Given the description of an element on the screen output the (x, y) to click on. 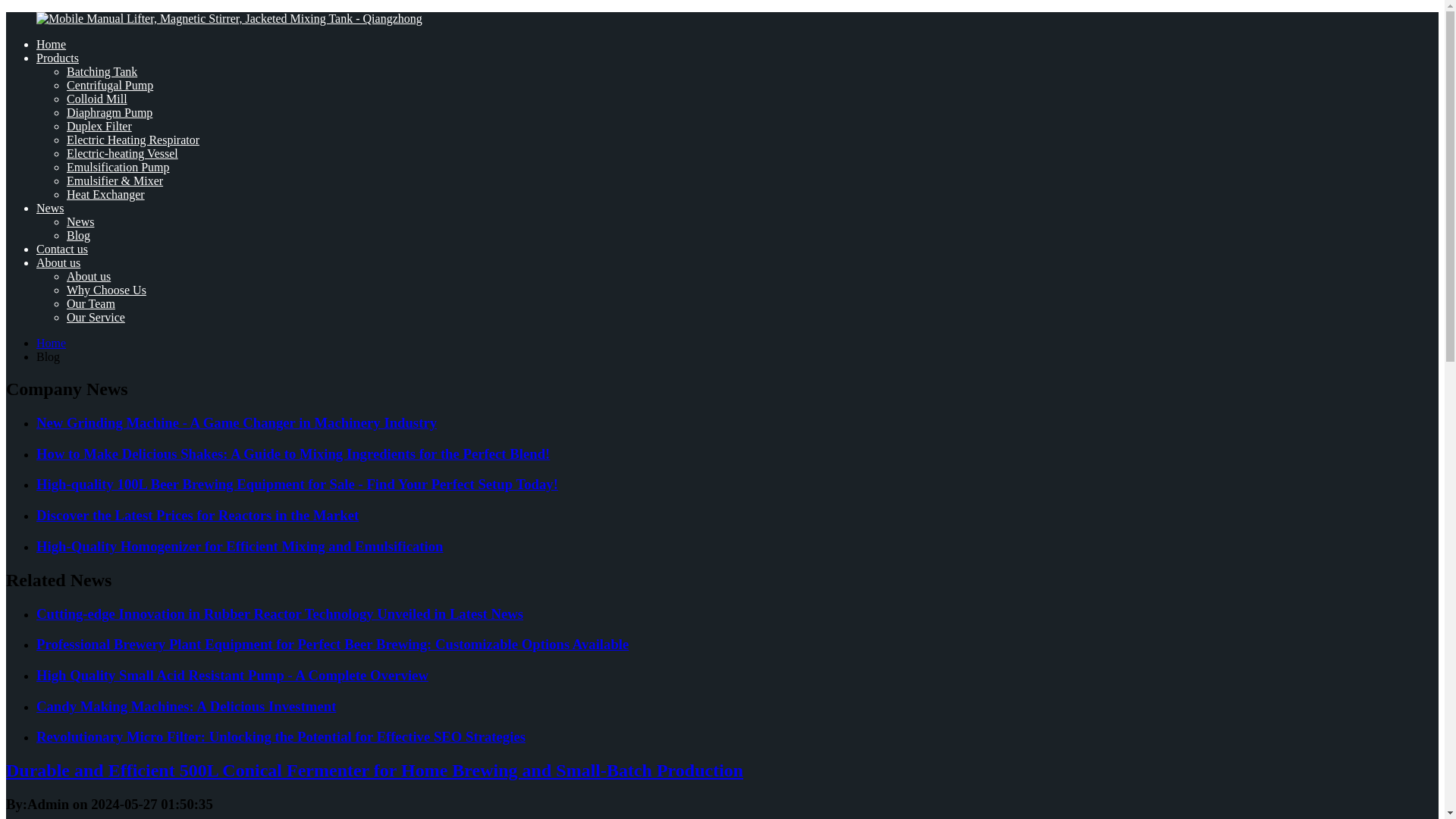
Home (50, 43)
Diaphragm Pump (109, 112)
Blog (78, 235)
About us (88, 276)
Centrifugal Pump (109, 84)
Emulsification Pump (118, 166)
News (80, 221)
Why Choose Us (106, 289)
Contact us (61, 248)
Home (50, 342)
